Given the description of an element on the screen output the (x, y) to click on. 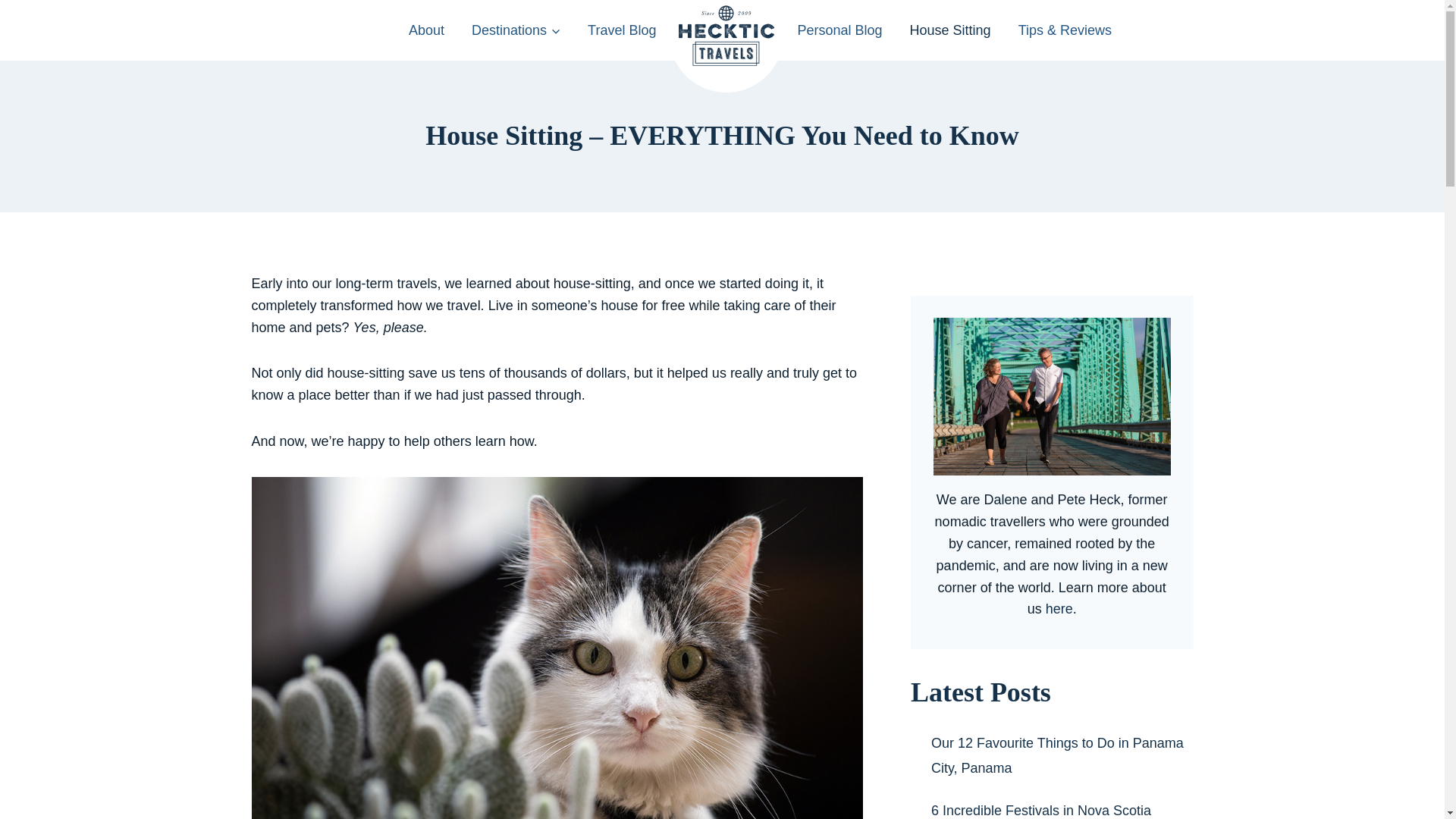
About (426, 30)
House Sitting (950, 30)
here (1059, 608)
Travel Blog (621, 30)
Home (726, 46)
Destinations (515, 30)
Personal Blog (839, 30)
6 Incredible Festivals in Nova Scotia (1041, 810)
Our 12 Favourite Things to Do in Panama City, Panama (1057, 754)
